Given the description of an element on the screen output the (x, y) to click on. 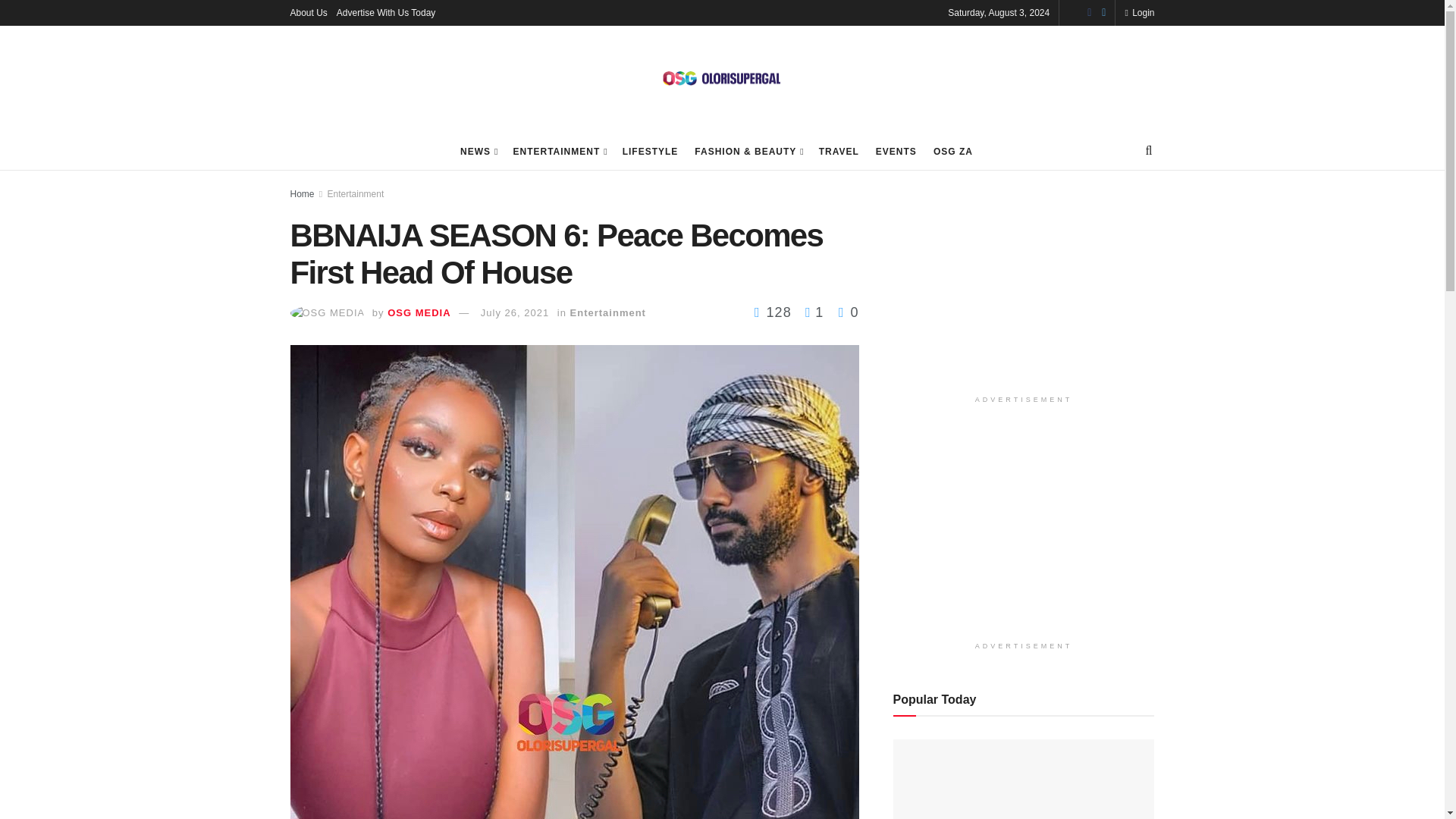
Advertisement (1023, 534)
Login (1139, 12)
Advertisement (1023, 288)
Advertise With Us Today (385, 12)
LIFESTYLE (650, 151)
ENTERTAINMENT (558, 151)
NEWS (478, 151)
EVENTS (896, 151)
TRAVEL (838, 151)
OSG ZA (952, 151)
About Us (307, 12)
